Given the description of an element on the screen output the (x, y) to click on. 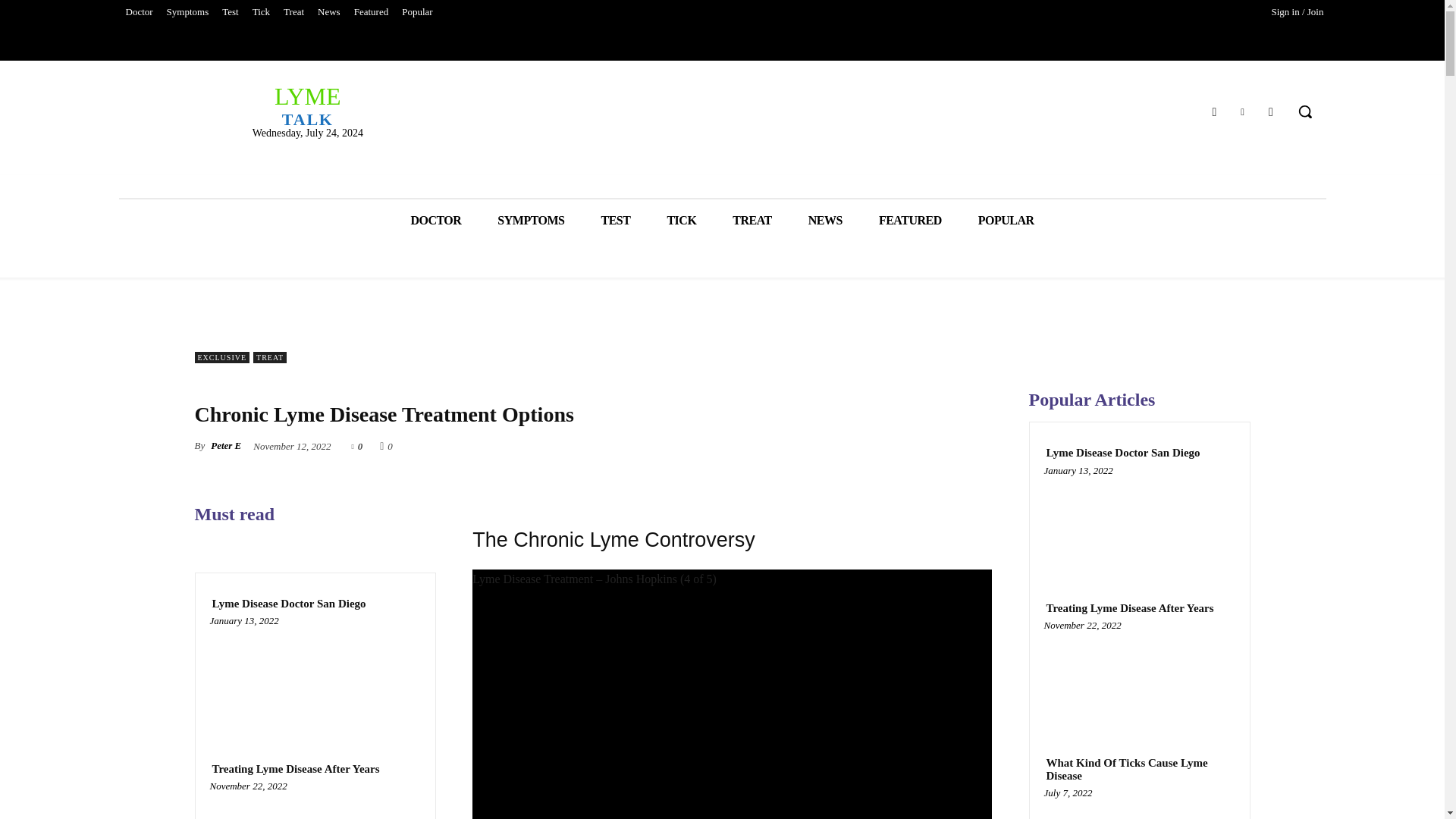
TEST (616, 219)
Treat (293, 12)
DOCTOR (435, 219)
Lyme Disease Doctor San Diego (306, 105)
Lyme Disease Doctor San Diego (314, 676)
Tick (288, 603)
Test (261, 12)
Youtube (229, 12)
SYMPTOMS (1270, 111)
Doctor (530, 219)
Treating Lyme Disease After Years (137, 12)
News (295, 768)
TICK (329, 12)
Symptoms (680, 219)
